Given the description of an element on the screen output the (x, y) to click on. 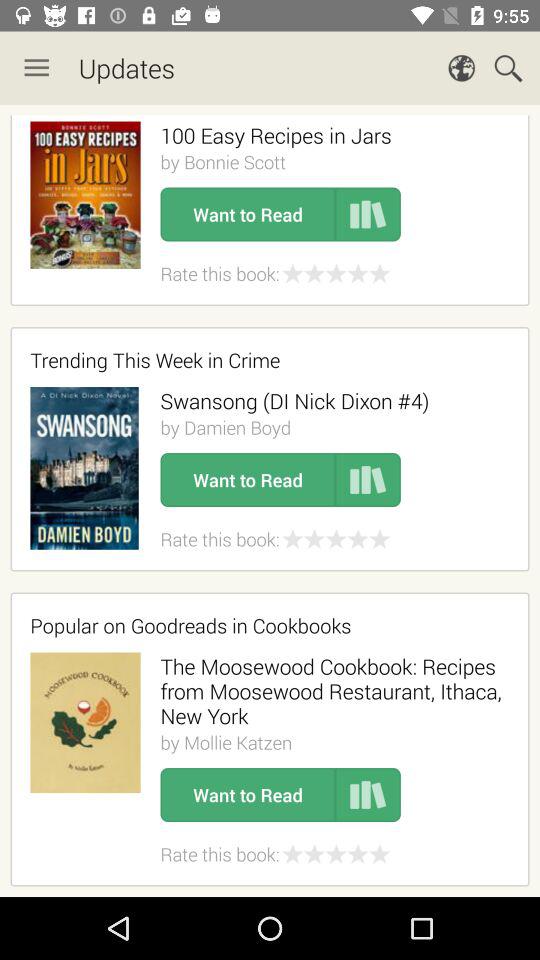
add book to library (367, 479)
